Given the description of an element on the screen output the (x, y) to click on. 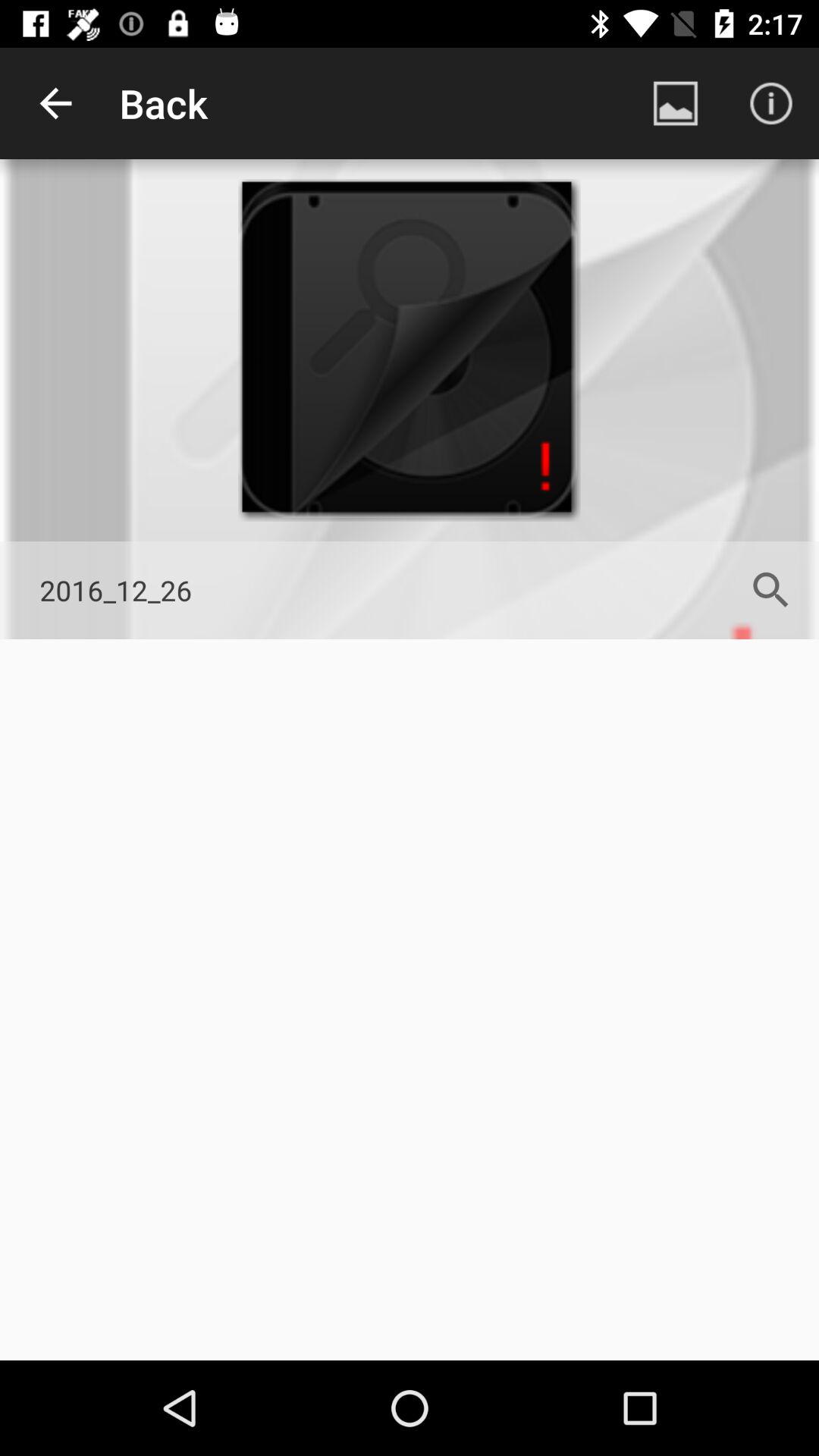
click app to the right of the back (675, 103)
